Given the description of an element on the screen output the (x, y) to click on. 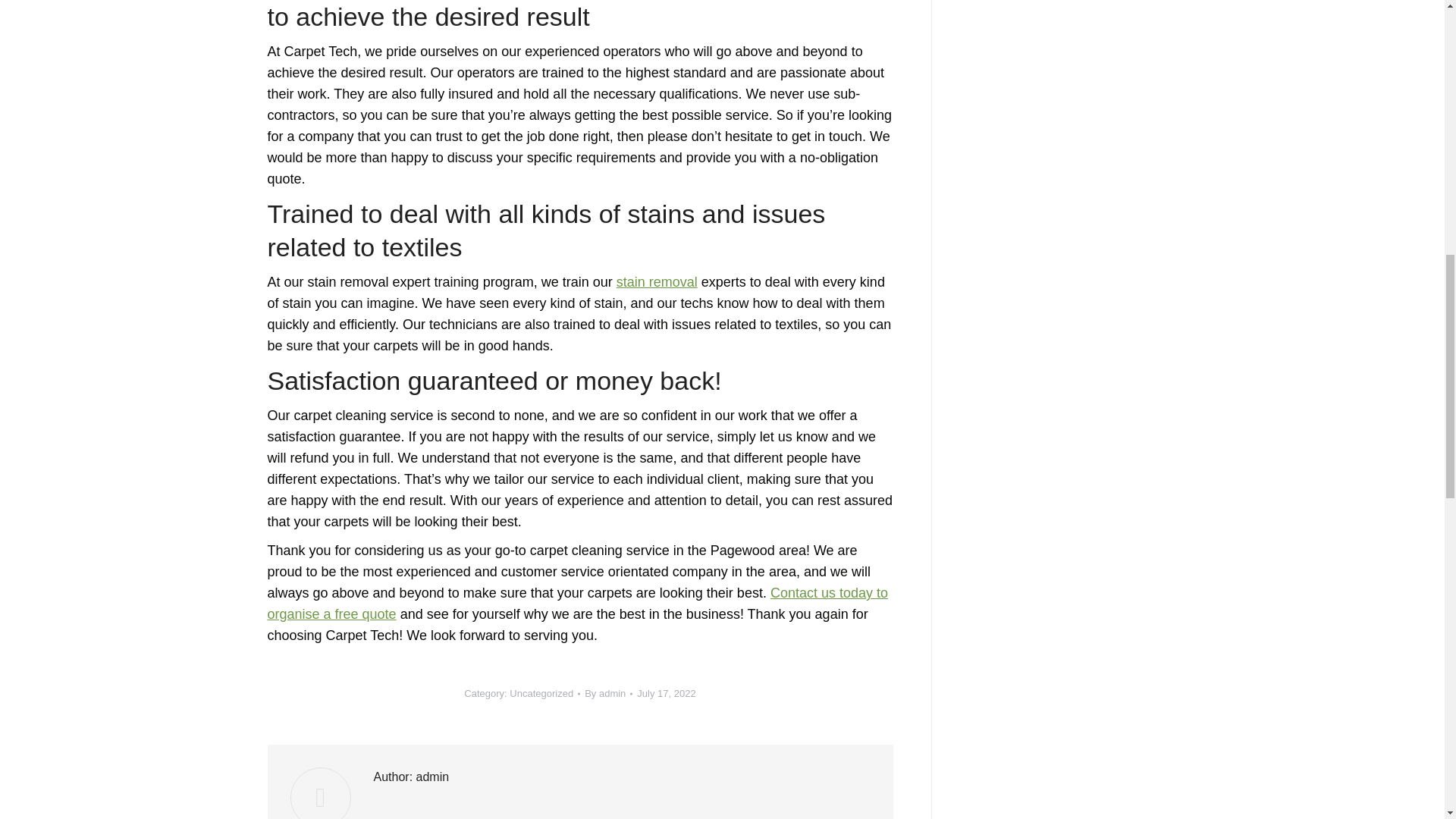
View all posts by admin (608, 692)
Uncategorized (541, 693)
Contact us today to organise a free quote (576, 603)
By admin (608, 692)
July 17, 2022 (666, 692)
stain removal (656, 281)
12:01 pm (666, 692)
